Given the description of an element on the screen output the (x, y) to click on. 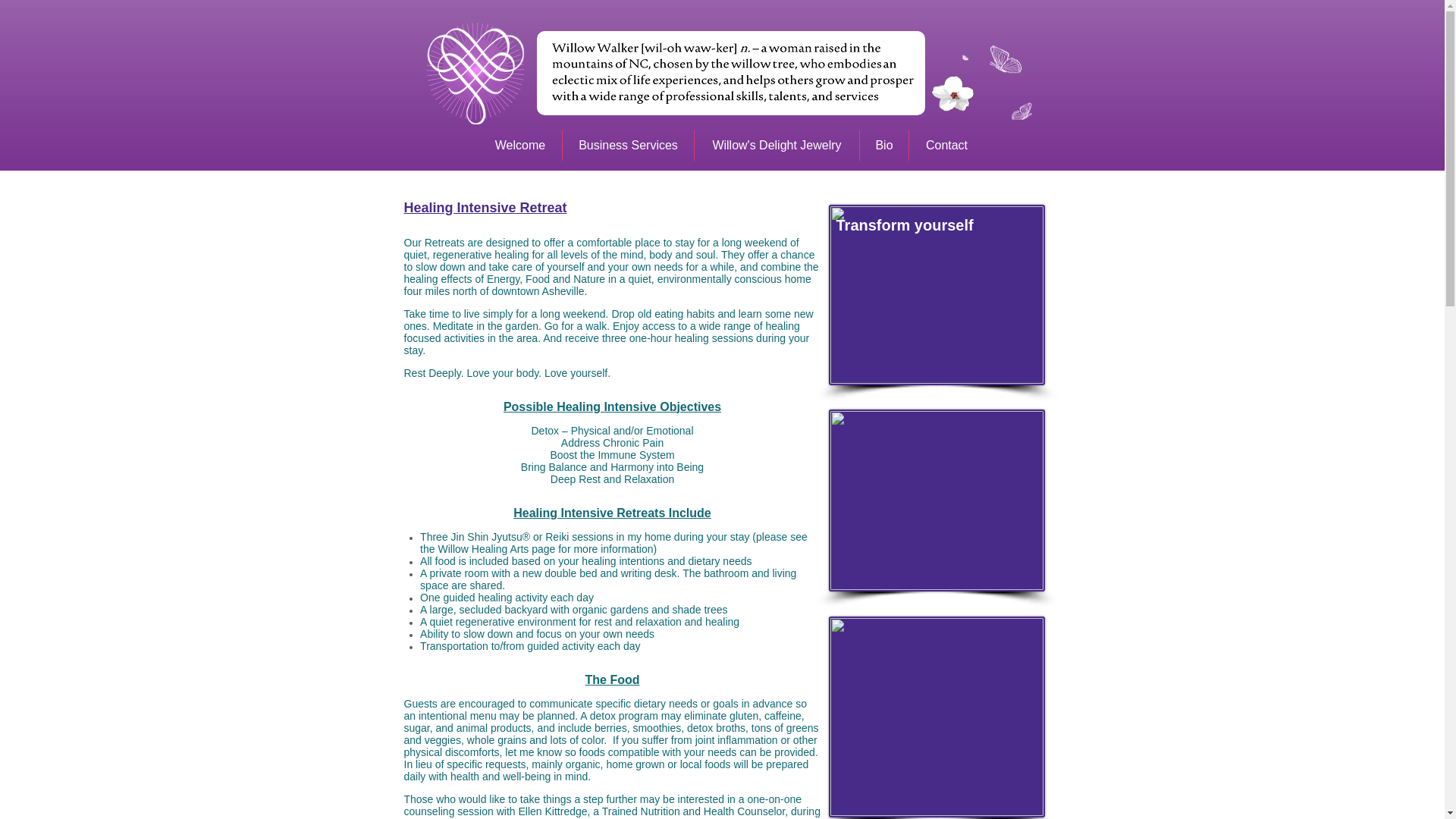
Welcome (520, 145)
Butterfly (935, 294)
Max Patch.jpg (935, 716)
Willow's Delight Jewelry (776, 145)
Willow Healing Arts (483, 548)
Bio (884, 145)
Beauty Care (935, 500)
Business Services (628, 145)
Contact (946, 145)
